Given the description of an element on the screen output the (x, y) to click on. 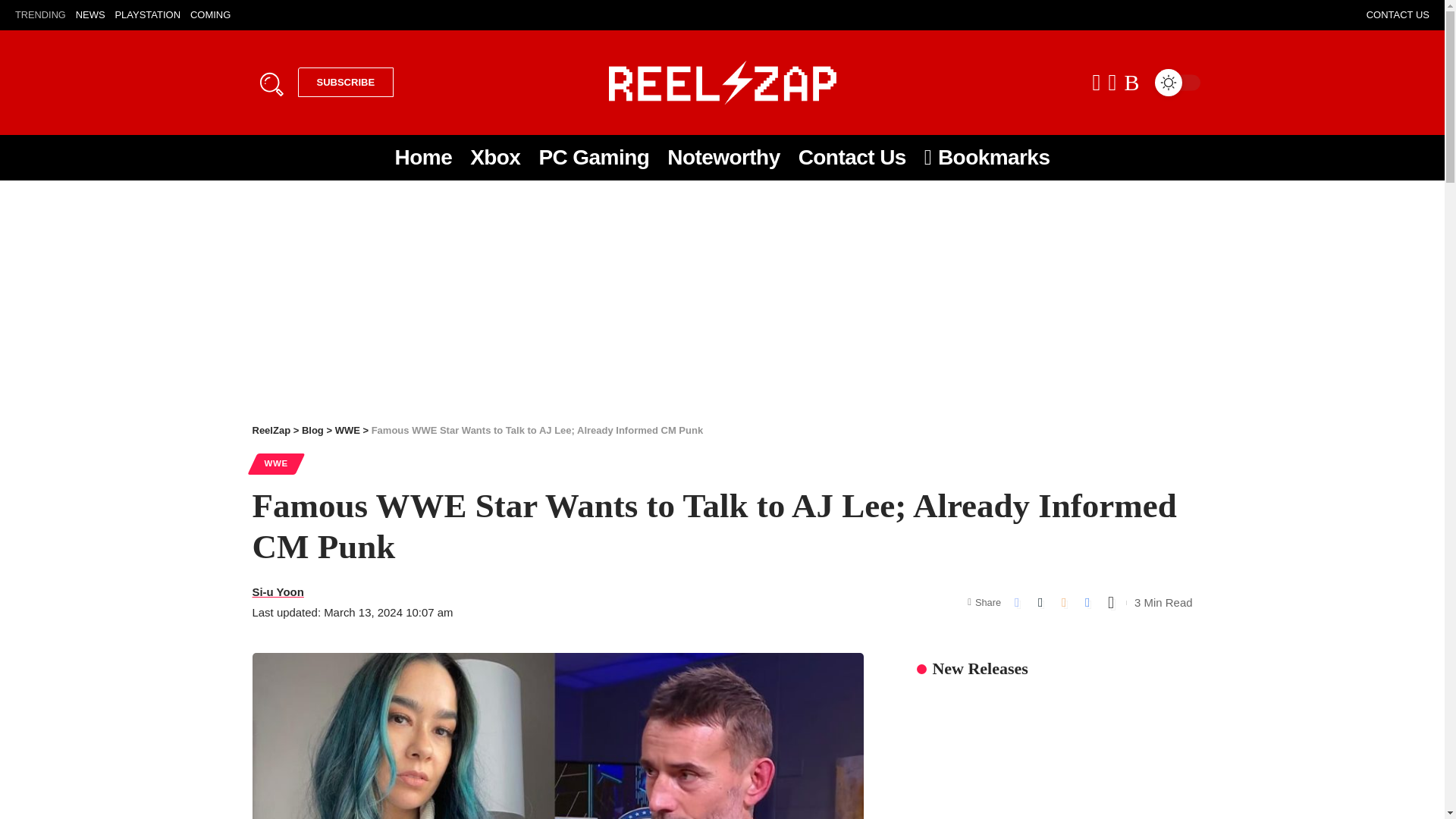
Go to the WWE Category archives. (346, 430)
PLAYSTATION (147, 14)
Bookmarks (987, 157)
Go to ReelZap. (483, 14)
Home (270, 430)
Go to Blog. (423, 157)
SUBSCRIBE (312, 430)
Contact Us (345, 82)
CONTACT US (852, 157)
COMING (1398, 14)
NEWS (210, 14)
PC Gaming (89, 14)
Xbox (593, 157)
Noteworthy (495, 157)
